Given the description of an element on the screen output the (x, y) to click on. 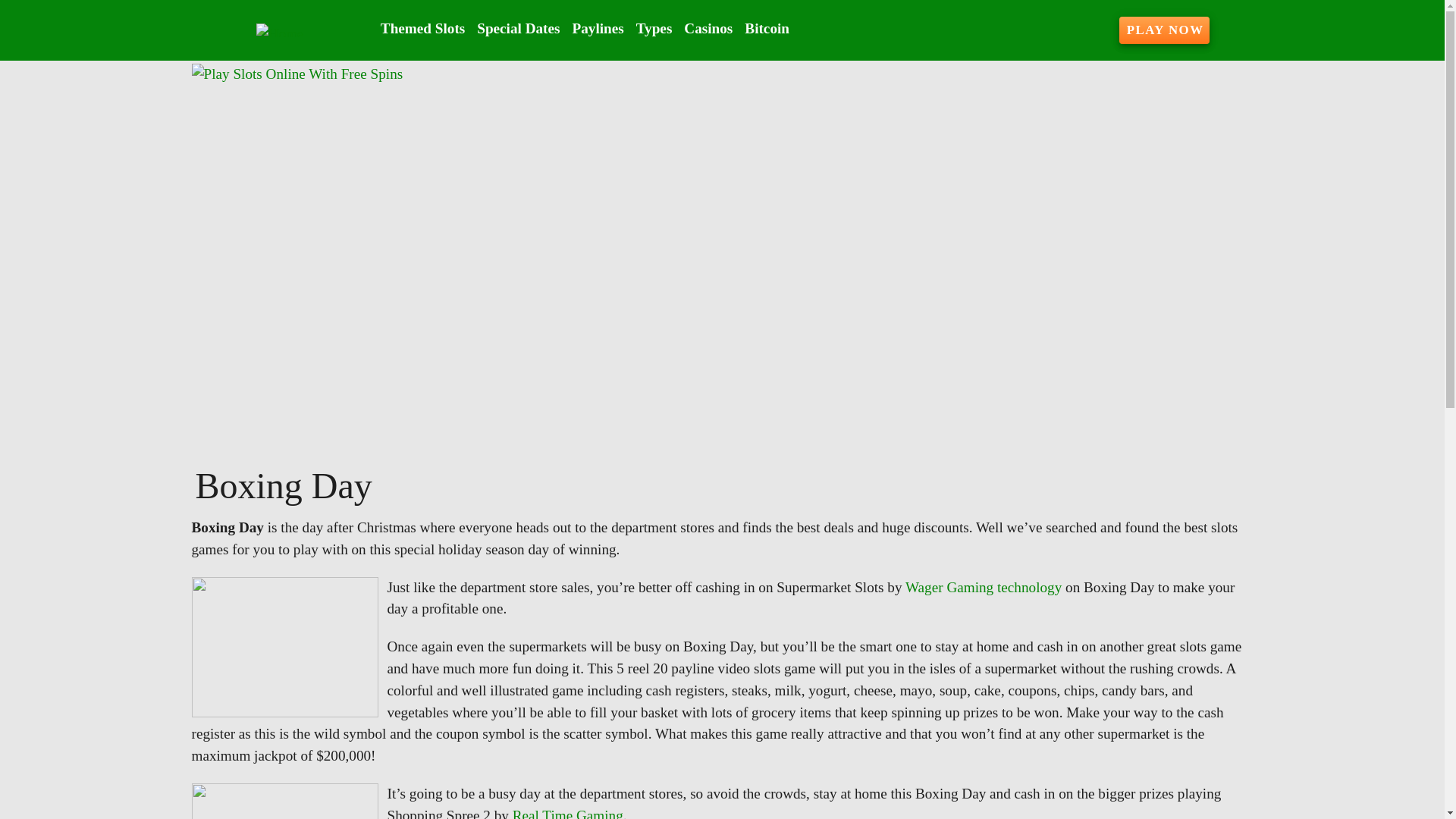
Wager Gaming technology (983, 587)
Special Dates (518, 28)
Bitcoin (766, 28)
Paylines (597, 28)
Casinos (708, 28)
Real Time Gaming (567, 813)
Themed Slots (422, 28)
Types (654, 28)
PLAY NOW (1164, 30)
